Given the description of an element on the screen output the (x, y) to click on. 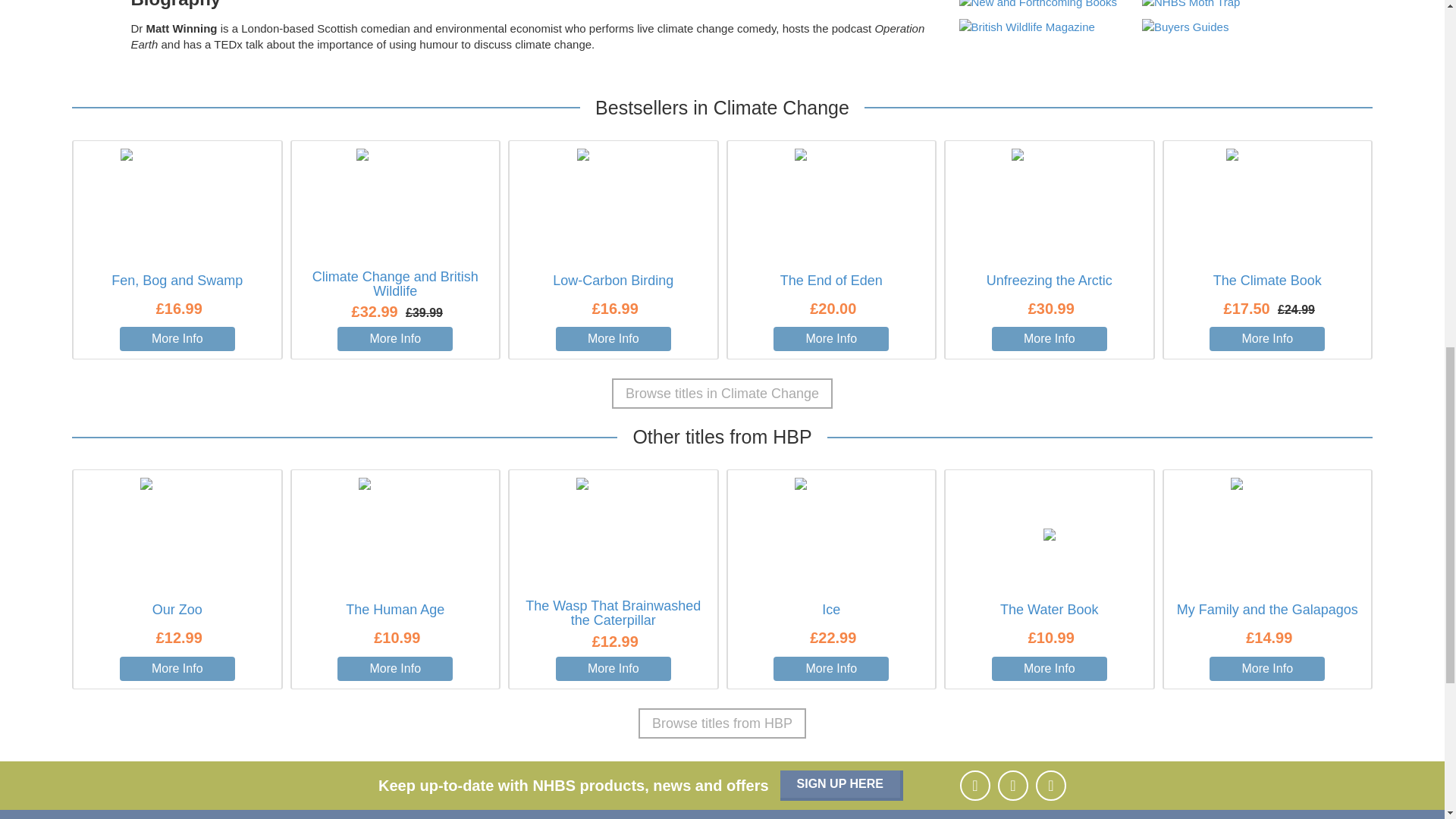
Follow us on Instagram (1012, 785)
Sign up here (841, 785)
Follow us on Facebook (974, 785)
Follow us on Twitter (1050, 785)
